Given the description of an element on the screen output the (x, y) to click on. 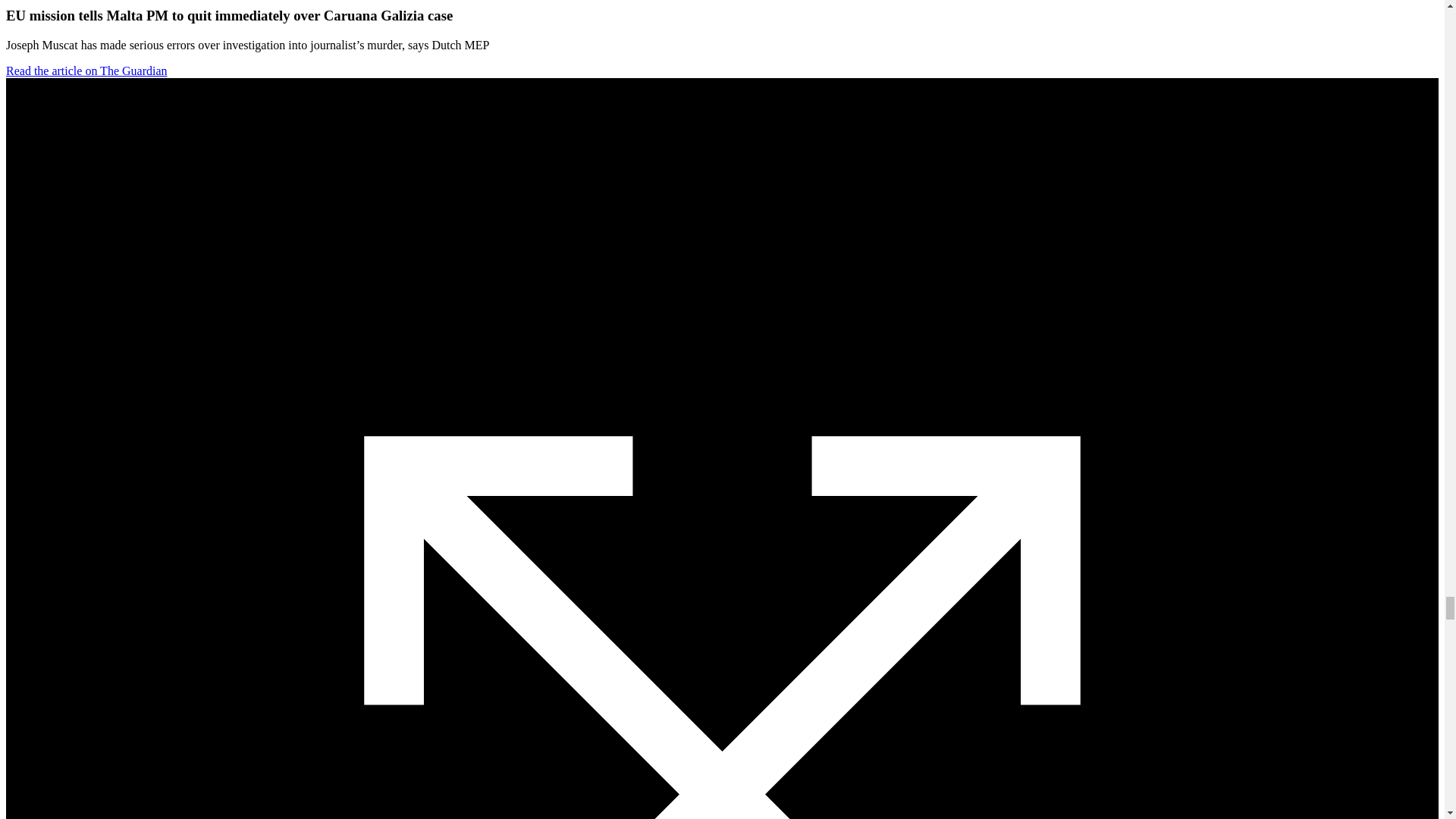
Read the article on The Guardian (86, 70)
